Given the description of an element on the screen output the (x, y) to click on. 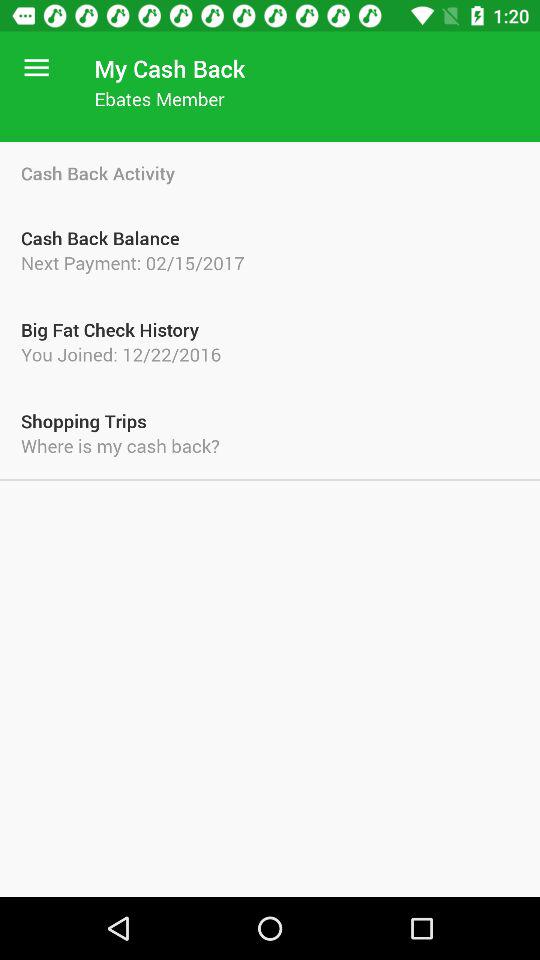
flip to the shopping trips (270, 420)
